Given the description of an element on the screen output the (x, y) to click on. 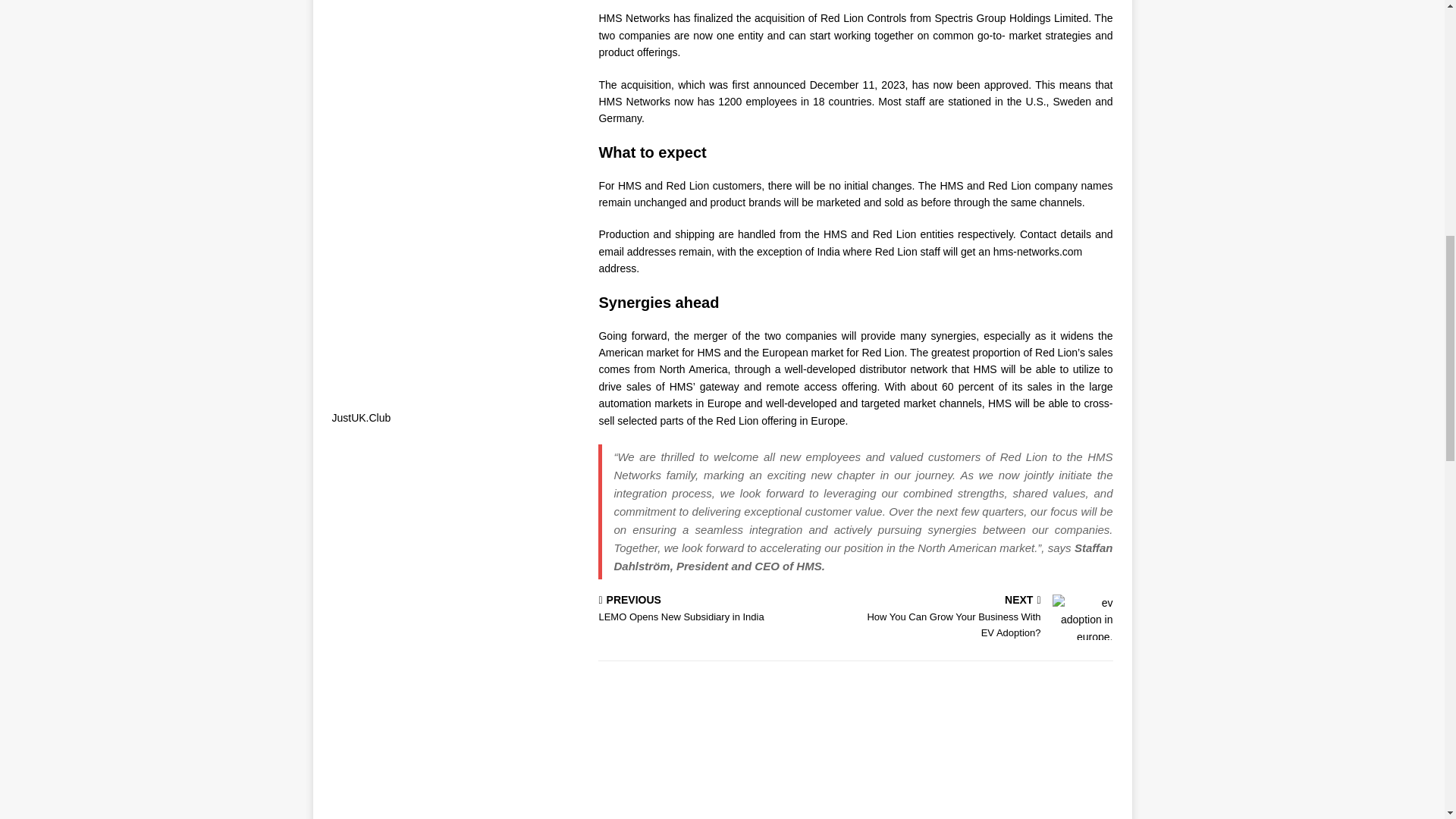
3rd party ad content (455, 770)
3rd party ad content (455, 90)
3rd party ad content (723, 609)
